Given the description of an element on the screen output the (x, y) to click on. 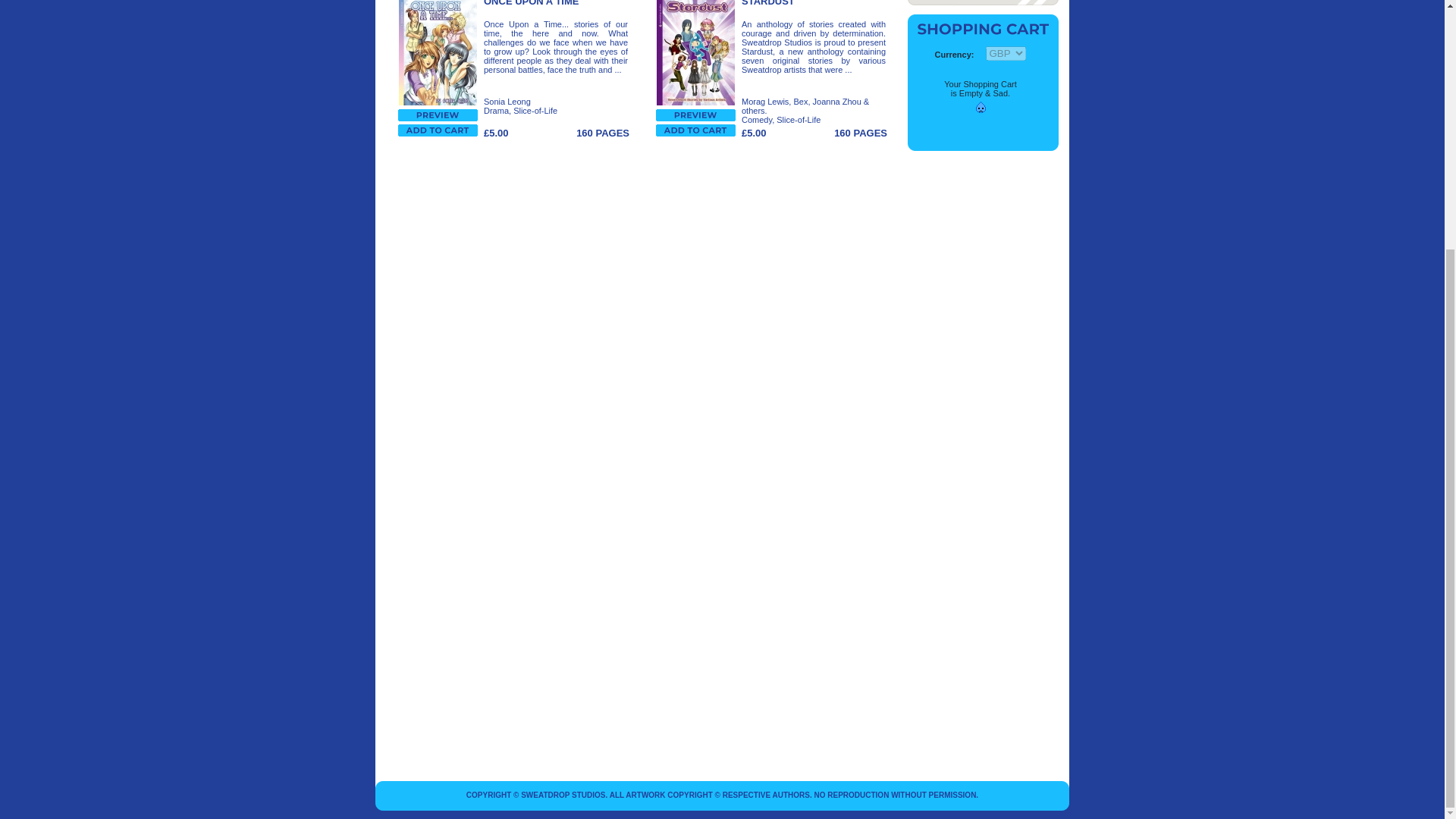
Joanna Zhou (836, 101)
Comedy (756, 119)
Slice-of-Life (535, 110)
Sonia Leong (507, 101)
Drama (495, 110)
Slice-of-Life (798, 119)
Bex (800, 101)
Morag Lewis (765, 101)
